Given the description of an element on the screen output the (x, y) to click on. 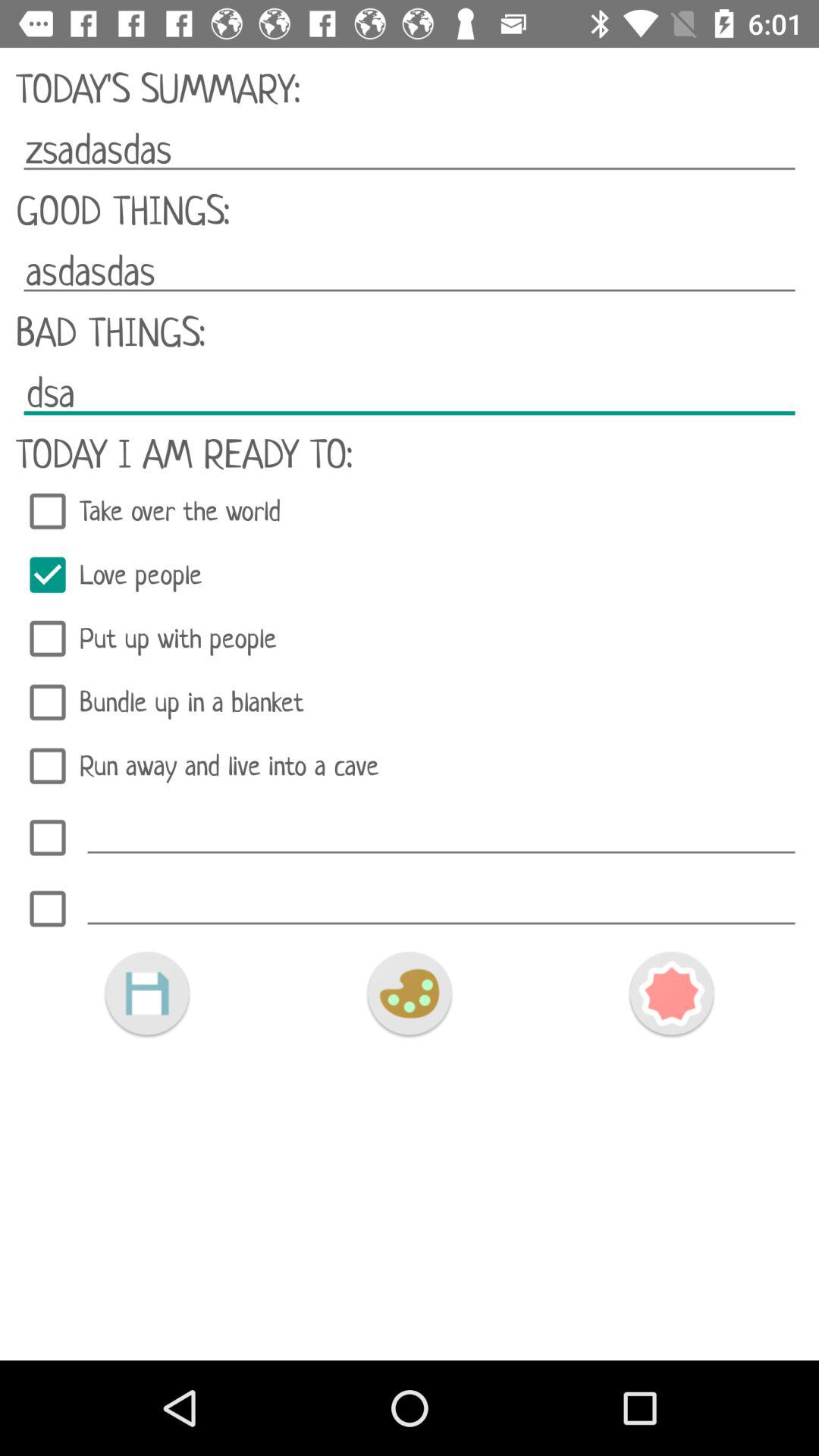
choose added item (47, 908)
